Given the description of an element on the screen output the (x, y) to click on. 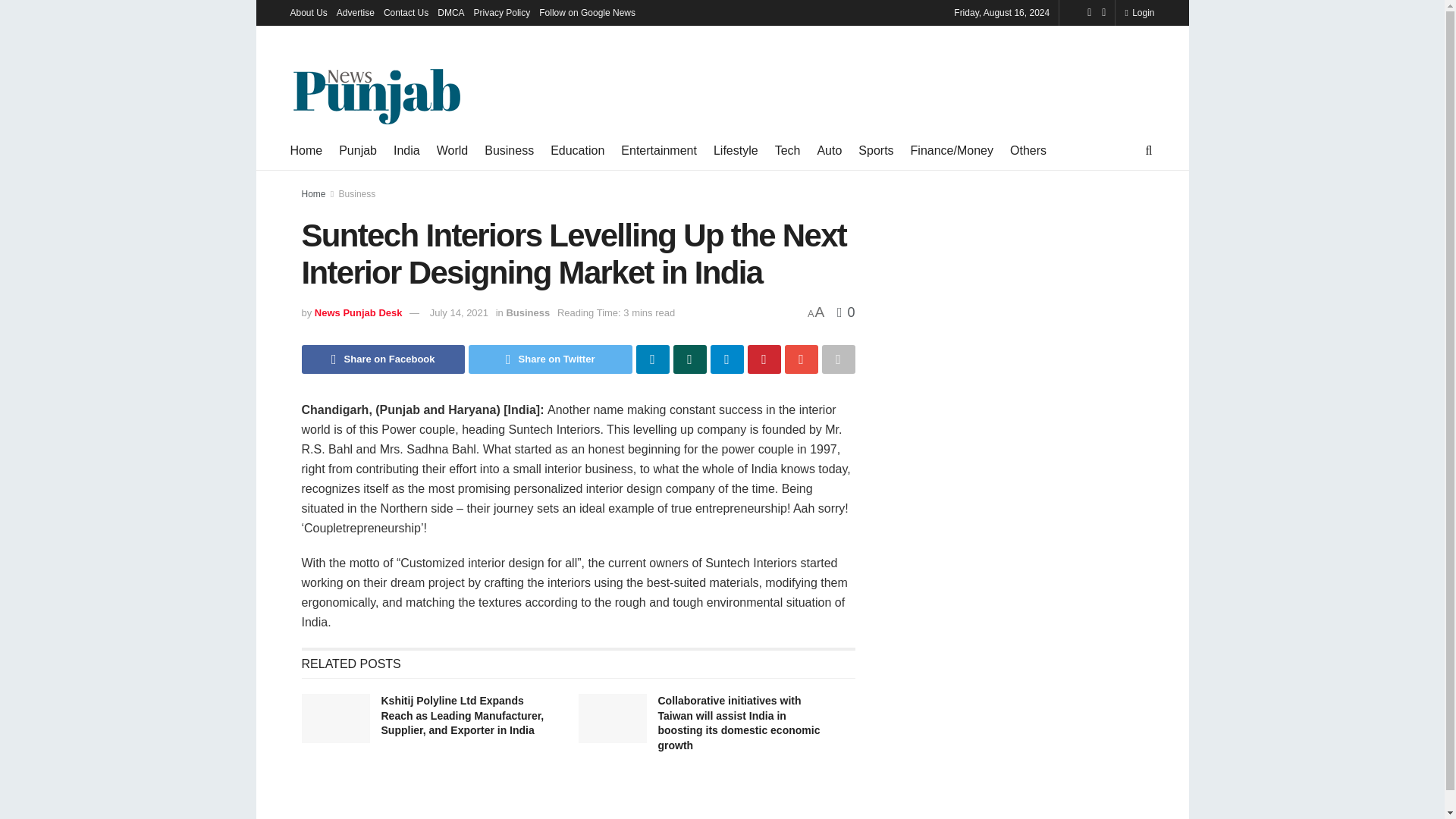
Business (509, 150)
About Us (307, 12)
Sports (876, 150)
DMCA (451, 12)
Auto (828, 150)
India (406, 150)
Privacy Policy (502, 12)
Follow on Google News (586, 12)
Advertise (355, 12)
Lifestyle (735, 150)
